Given the description of an element on the screen output the (x, y) to click on. 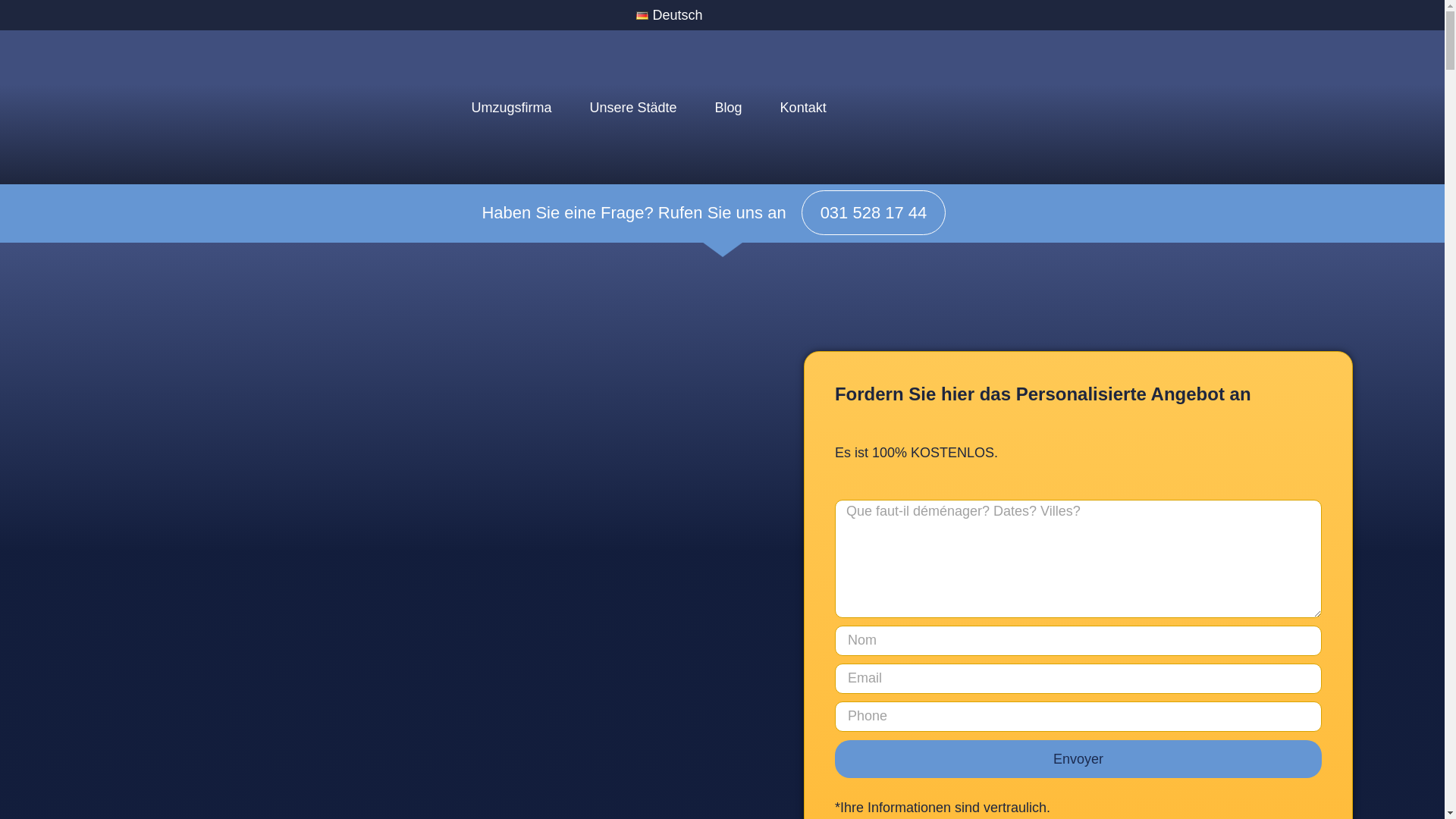
031 528 17 44 Element type: text (873, 212)
Umzugsfirma Element type: text (510, 107)
Kontakt Element type: text (803, 107)
Envoyer Element type: text (1077, 759)
Haben Sie eine Frage? Rufen Sie uns an Element type: text (633, 212)
Blog Element type: text (728, 107)
